Given the description of an element on the screen output the (x, y) to click on. 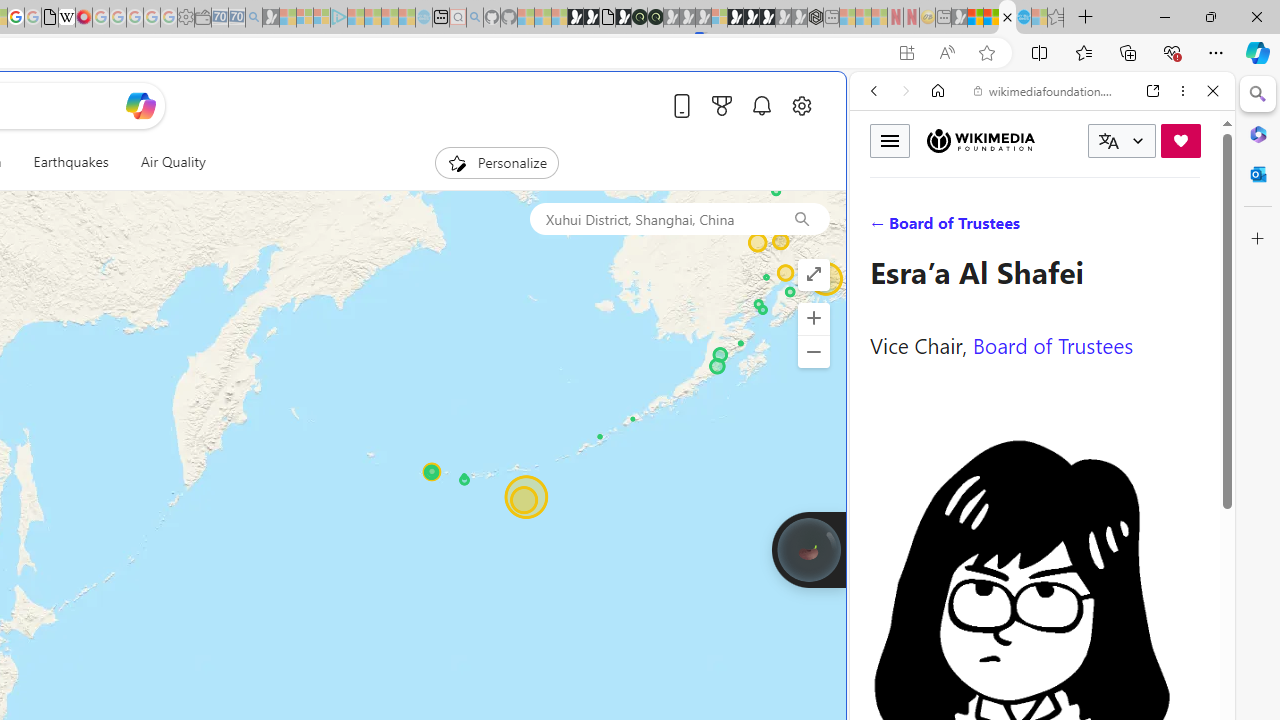
github - Search - Sleeping (474, 17)
Home (938, 91)
Preferences (1189, 228)
MediaWiki (83, 17)
More options (1182, 91)
SEARCH TOOLS (1093, 228)
